Given the description of an element on the screen output the (x, y) to click on. 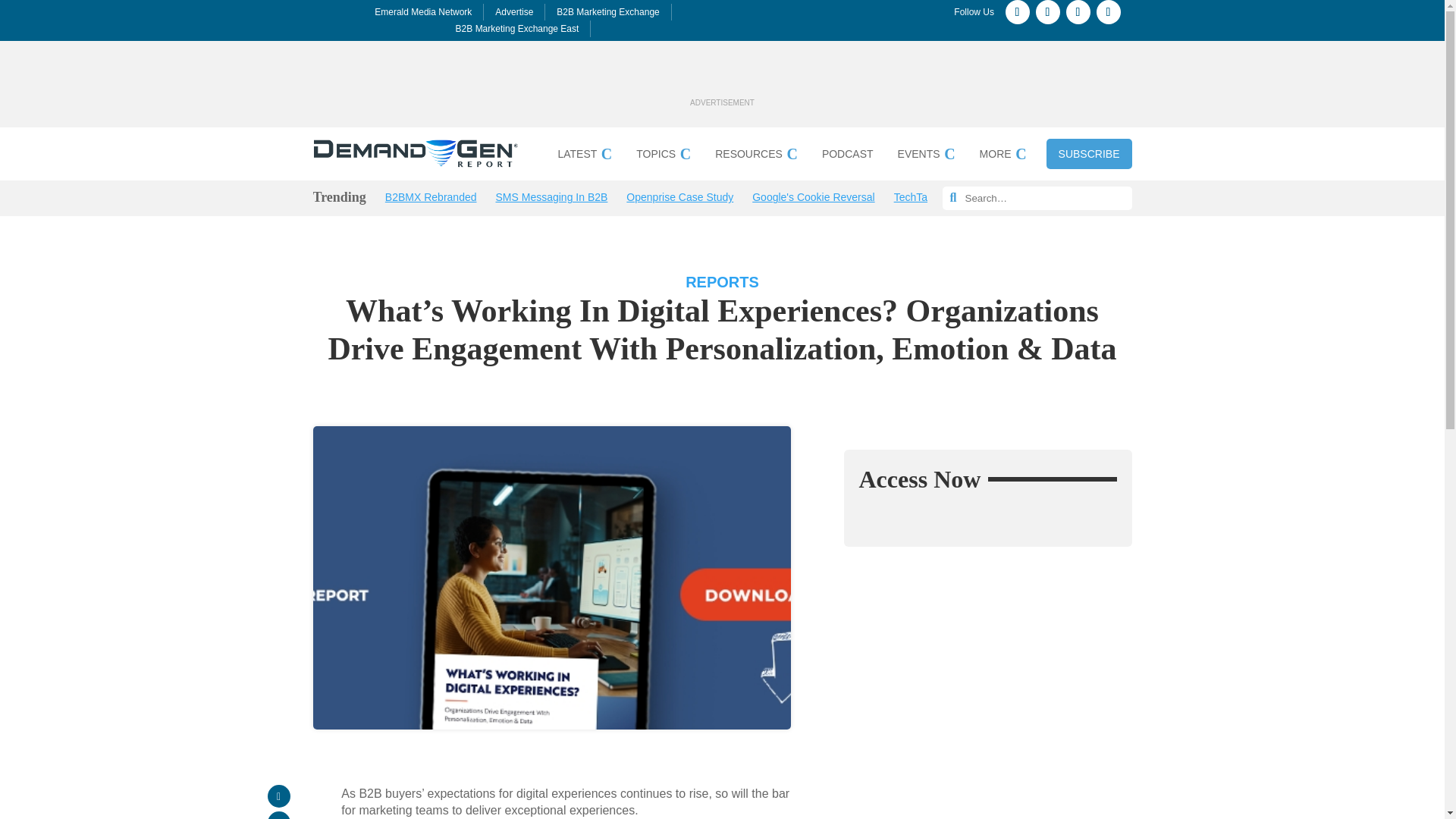
Follow on Facebook (1017, 12)
B2B Marketing Exchange East (517, 28)
Emerald Media Network (422, 11)
TOPICS (663, 156)
B2B Marketing Exchange (607, 11)
Follow on Youtube (1047, 12)
Follow on LinkedIn (1108, 12)
Advertise (513, 11)
Follow on X (1077, 12)
RESOURCES (755, 156)
LATEST (584, 156)
